Given the description of an element on the screen output the (x, y) to click on. 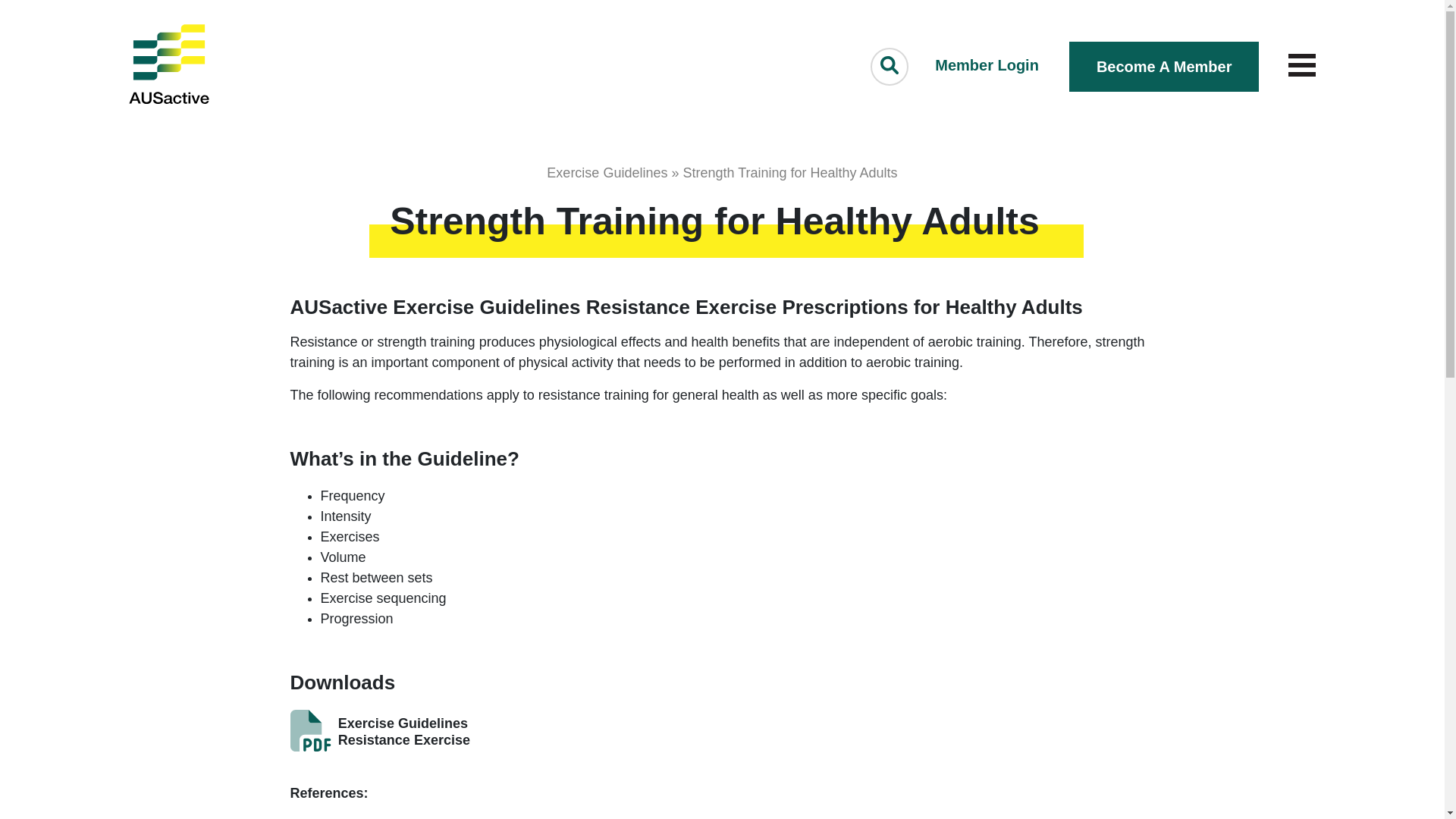
Exercise Guidelines Resistance Exercise Element type: text (391, 734)
Member Login Element type: text (986, 64)
Become A Member Element type: text (1164, 66)
Exercise Guidelines Element type: text (606, 172)
